Given the description of an element on the screen output the (x, y) to click on. 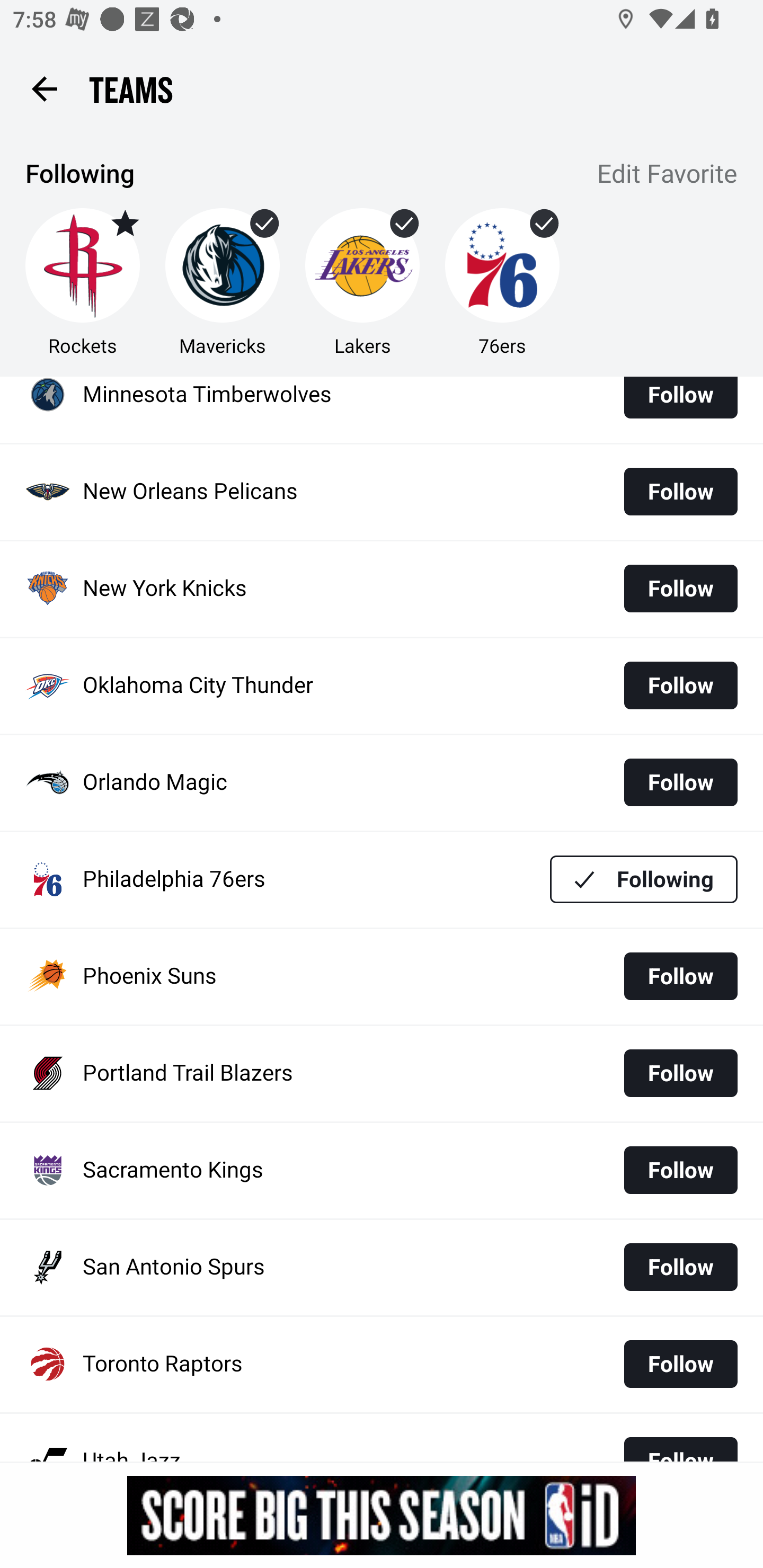
Back button (44, 88)
Edit Favorite (667, 175)
Minnesota Timberwolves Follow (381, 409)
Follow (680, 404)
New Orleans Pelicans Follow (381, 491)
Follow (680, 491)
New York Knicks Follow (381, 588)
Follow (680, 588)
Oklahoma City Thunder Follow (381, 685)
Follow (680, 684)
Orlando Magic Follow (381, 783)
Follow (680, 782)
Philadelphia 76ers Following (381, 880)
Following (643, 878)
Phoenix Suns Follow (381, 976)
Follow (680, 975)
Portland Trail Blazers Follow (381, 1073)
Follow (680, 1072)
Sacramento Kings Follow (381, 1170)
Follow (680, 1170)
San Antonio Spurs Follow (381, 1267)
Follow (680, 1266)
Toronto Raptors Follow (381, 1364)
Follow (680, 1363)
g5nqqygr7owph (381, 1515)
